Given the description of an element on the screen output the (x, y) to click on. 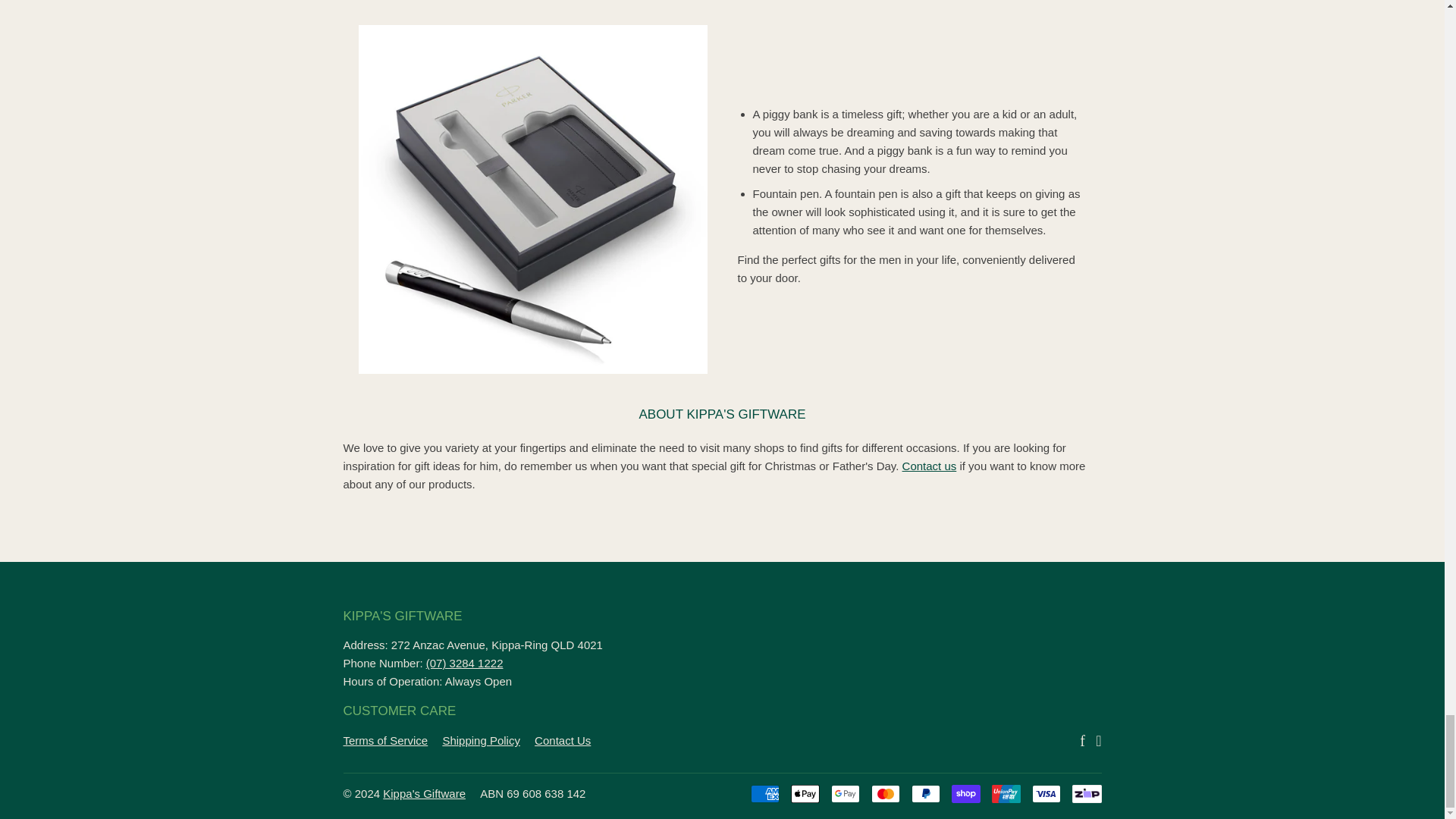
American Express (764, 793)
Google Pay (845, 793)
Apple Pay (804, 793)
Visa (1046, 793)
Mastercard (884, 793)
Union Pay (1005, 793)
PayPal (925, 793)
Shop Pay (965, 793)
